Given the description of an element on the screen output the (x, y) to click on. 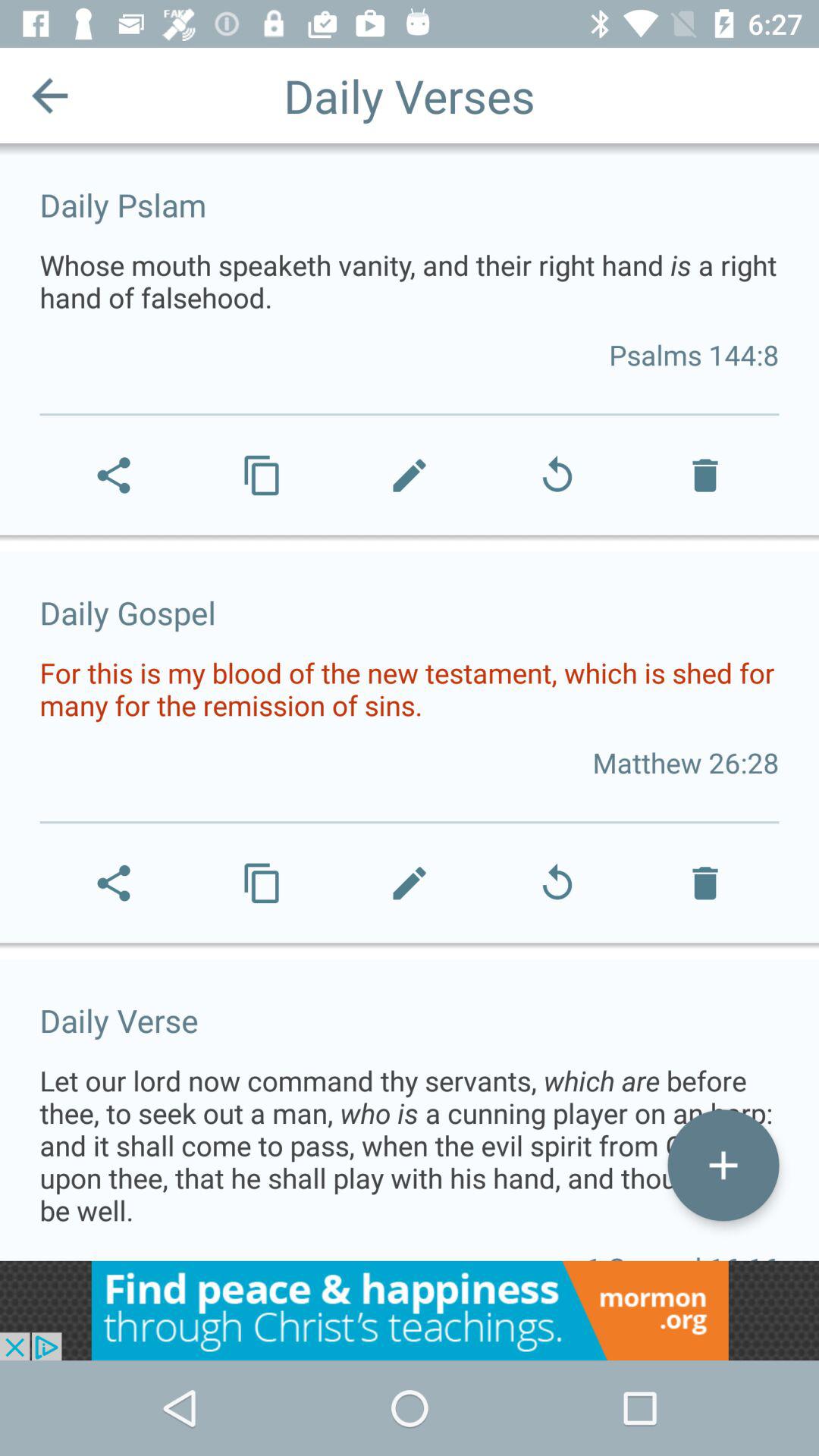
open advertisement (409, 1310)
